Given the description of an element on the screen output the (x, y) to click on. 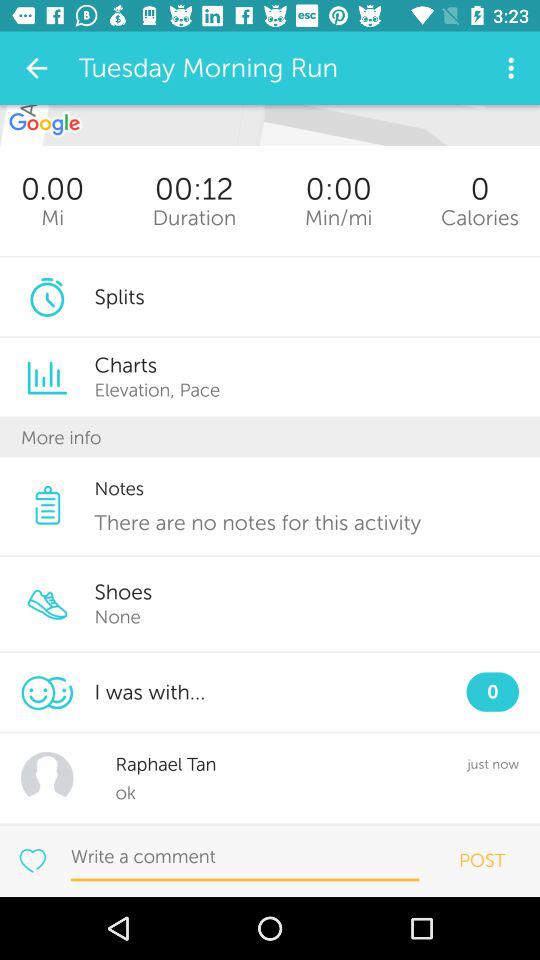
click your favourite option (32, 860)
